Given the description of an element on the screen output the (x, y) to click on. 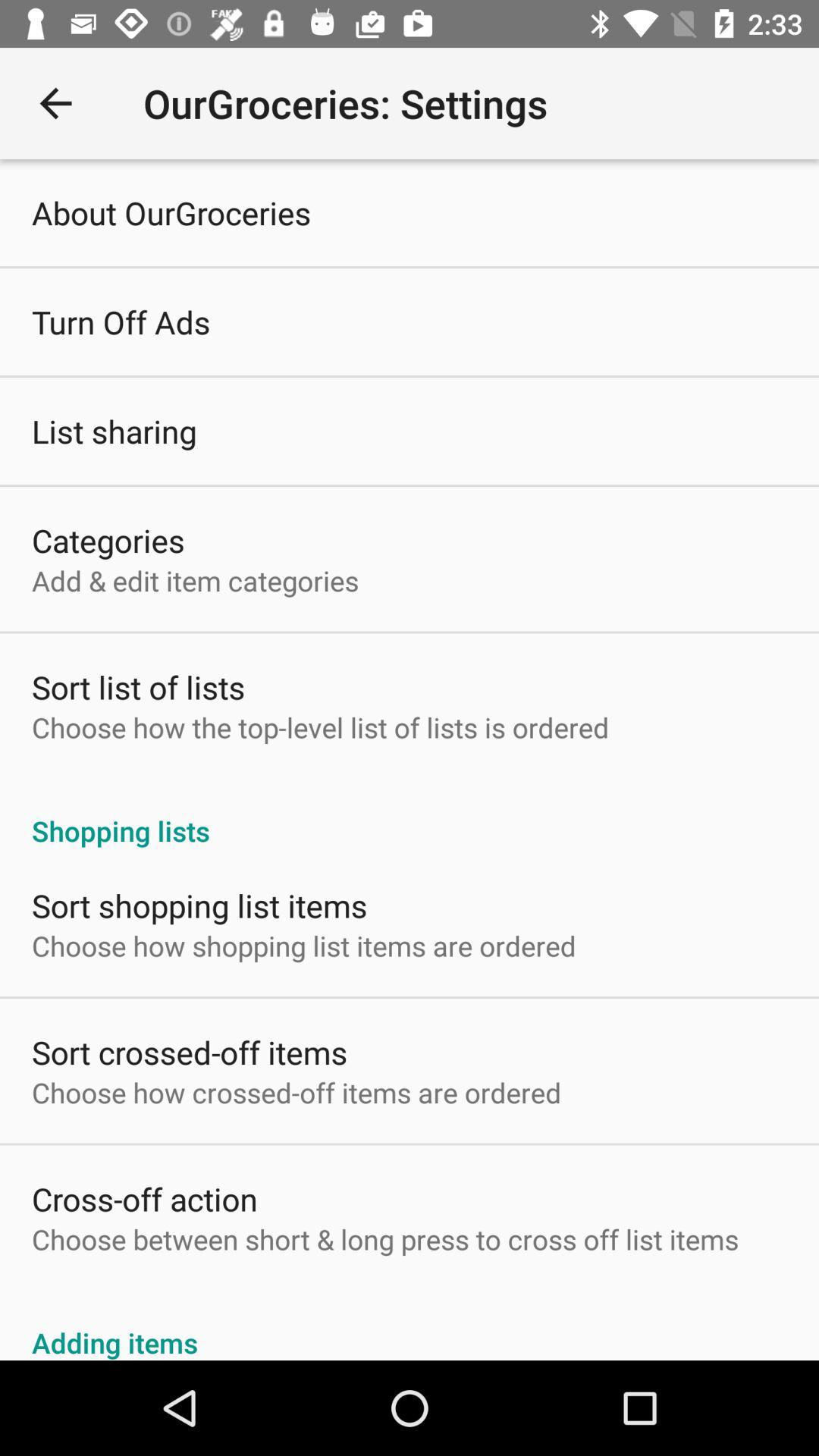
choose the item below the choose between short item (409, 1326)
